Given the description of an element on the screen output the (x, y) to click on. 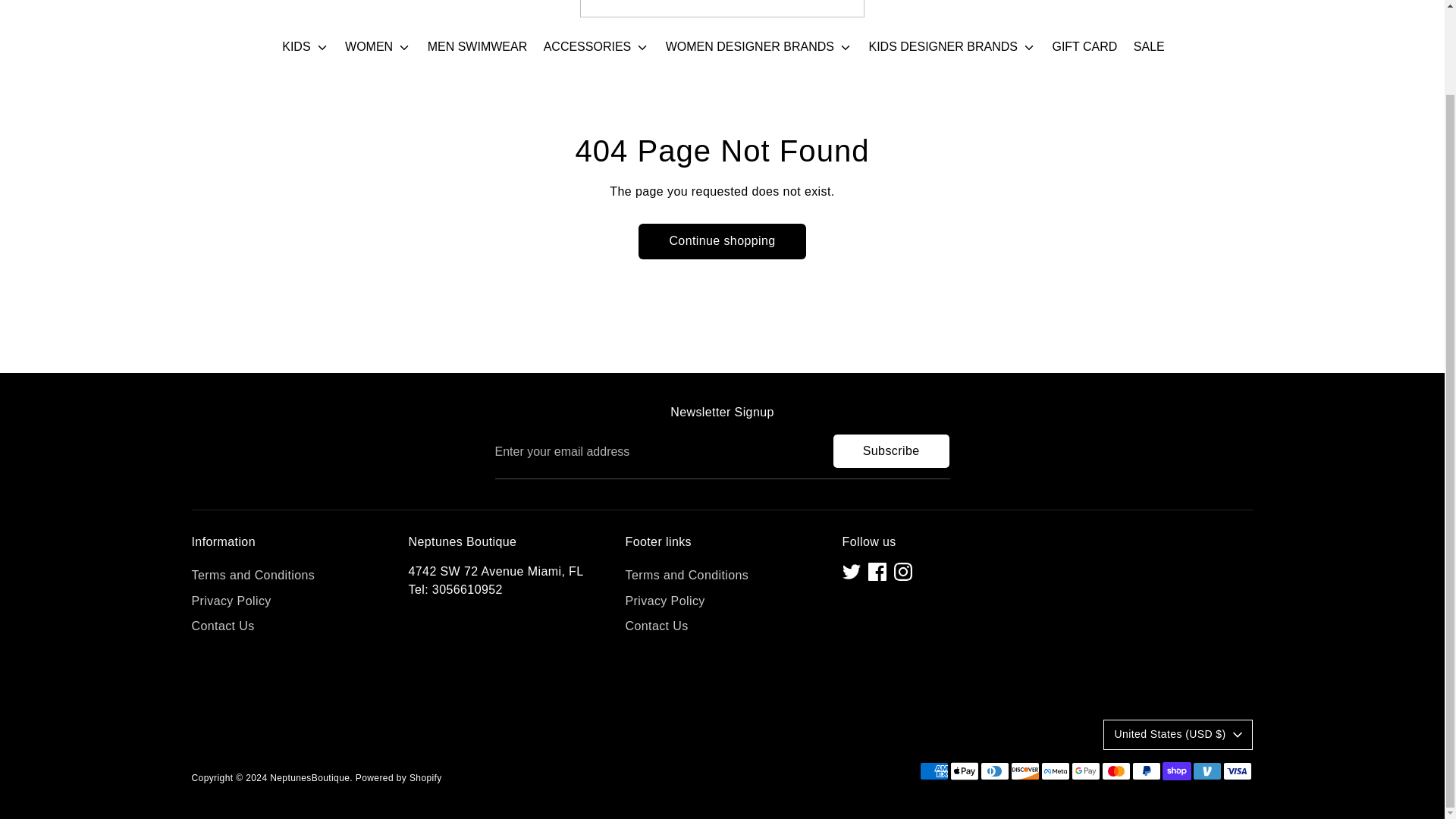
Apple Pay (963, 771)
Google Pay (1084, 771)
PayPal (1145, 771)
Discover (1024, 771)
Mastercard (1114, 771)
Diners Club (994, 771)
Meta Pay (1054, 771)
American Express (932, 771)
